Given the description of an element on the screen output the (x, y) to click on. 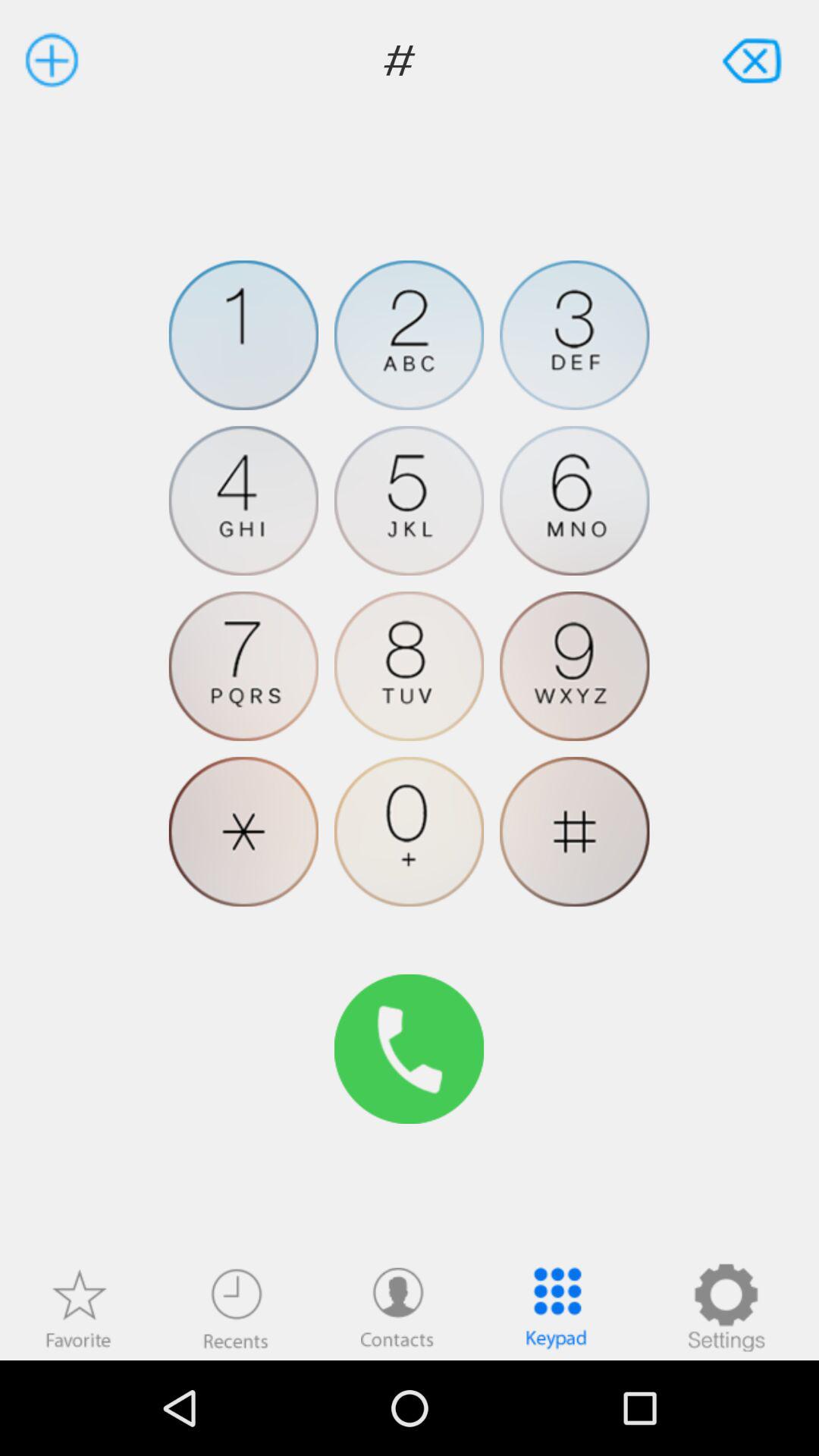
phone number (409, 500)
